Given the description of an element on the screen output the (x, y) to click on. 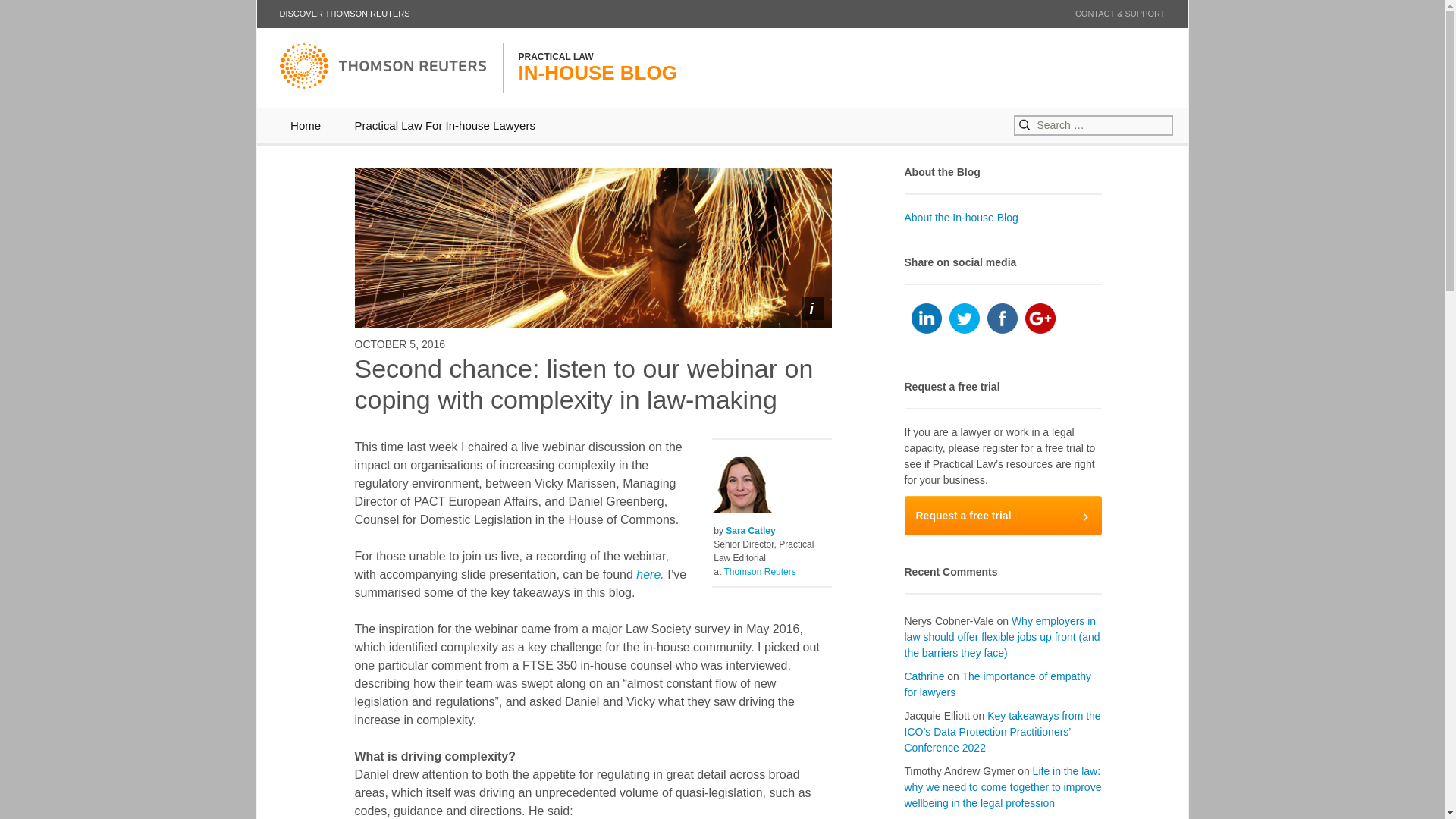
Search (37, 14)
Cathrine (923, 676)
TWITTER (964, 318)
Home (305, 125)
GOOGLE (1040, 318)
Thomson Reuters (758, 571)
Sara Catley (749, 530)
Practical Law For In-house Lawyers (444, 125)
The importance of empathy for lawyers (997, 684)
LINKEDIN (1002, 515)
here. (926, 318)
